Given the description of an element on the screen output the (x, y) to click on. 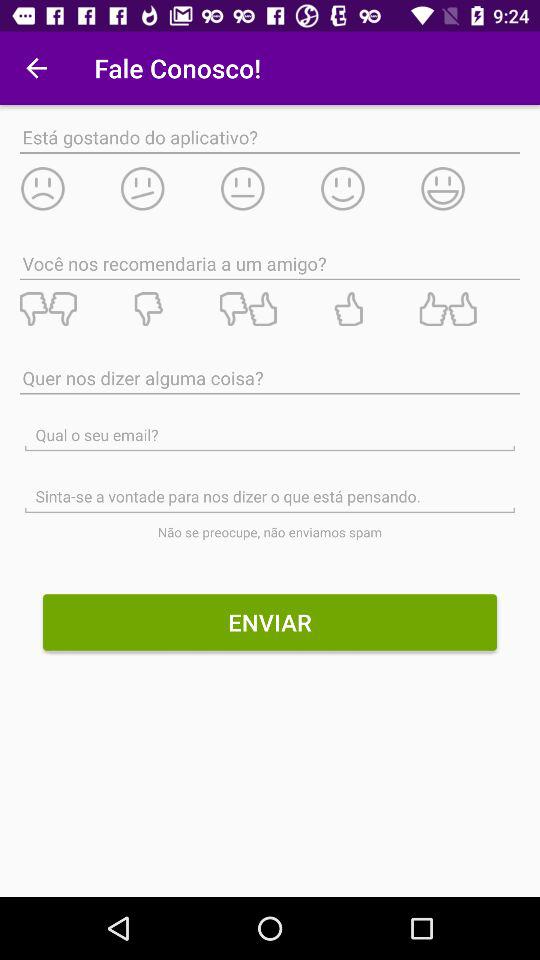
like this app (469, 188)
